Given the description of an element on the screen output the (x, y) to click on. 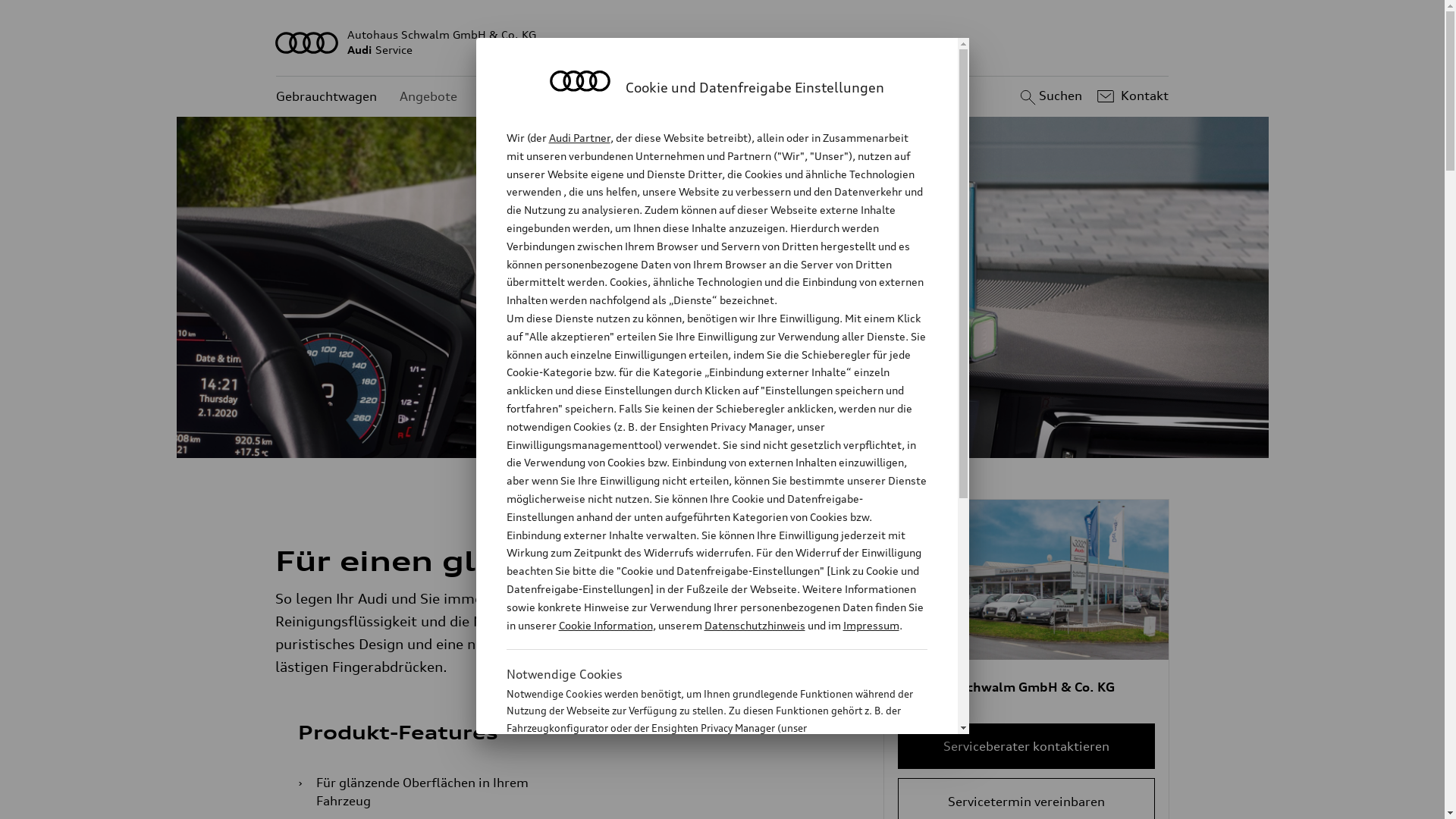
Suchen Element type: text (1049, 96)
Angebote Element type: text (428, 96)
Autohaus Schwalm GmbH & Co. KG
AudiService Element type: text (722, 42)
Cookie Information Element type: text (605, 624)
Impressum Element type: text (871, 624)
Datenschutzhinweis Element type: text (753, 624)
Audi Partner Element type: text (579, 137)
Cookie Information Element type: text (700, 802)
Kontakt Element type: text (1130, 96)
Gebrauchtwagen Element type: text (326, 96)
Serviceberater kontaktieren Element type: text (1025, 745)
Kundenservice Element type: text (523, 96)
